Given the description of an element on the screen output the (x, y) to click on. 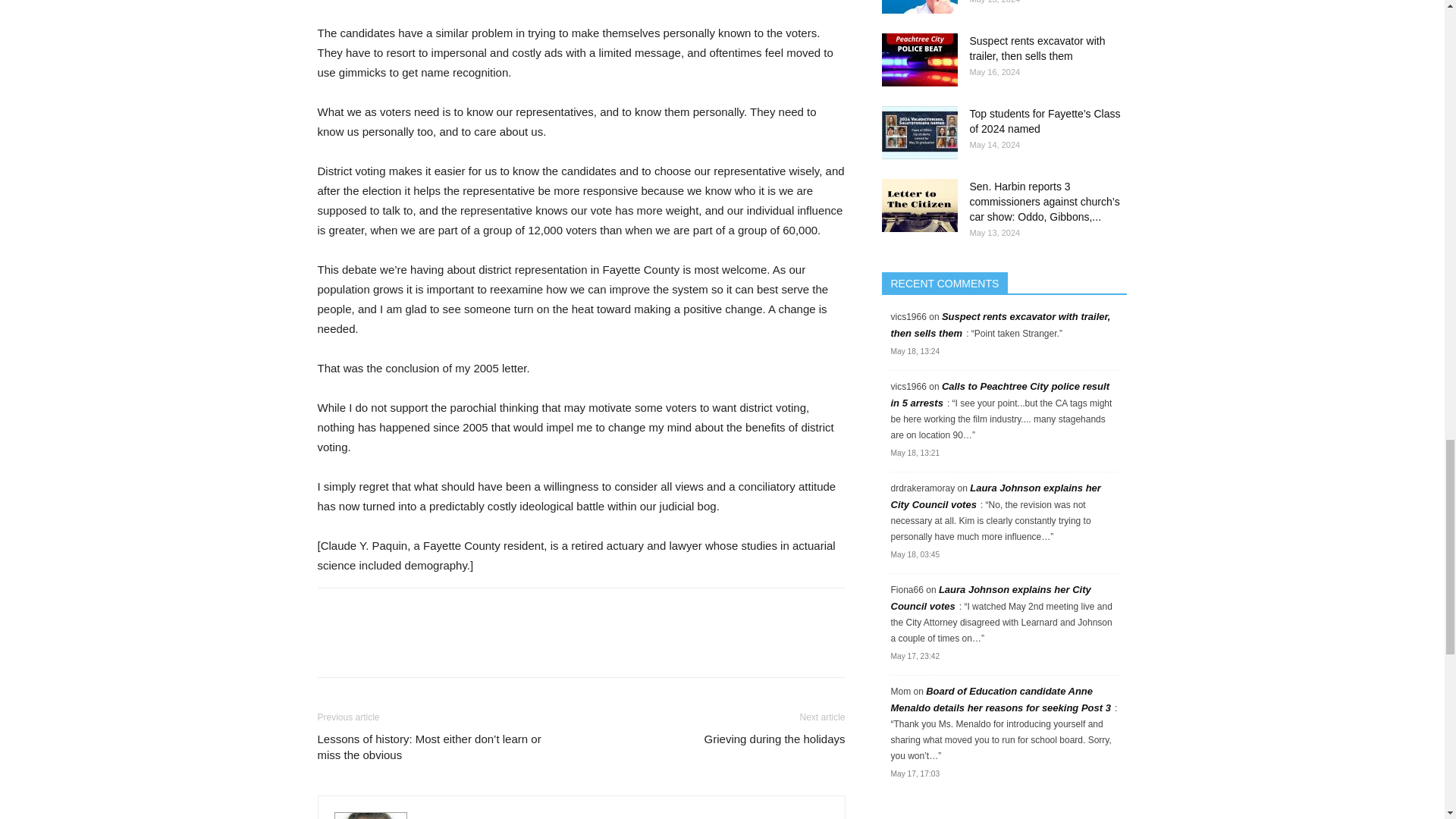
The inside story: How the movie studio came to Fayette (918, 6)
